Given the description of an element on the screen output the (x, y) to click on. 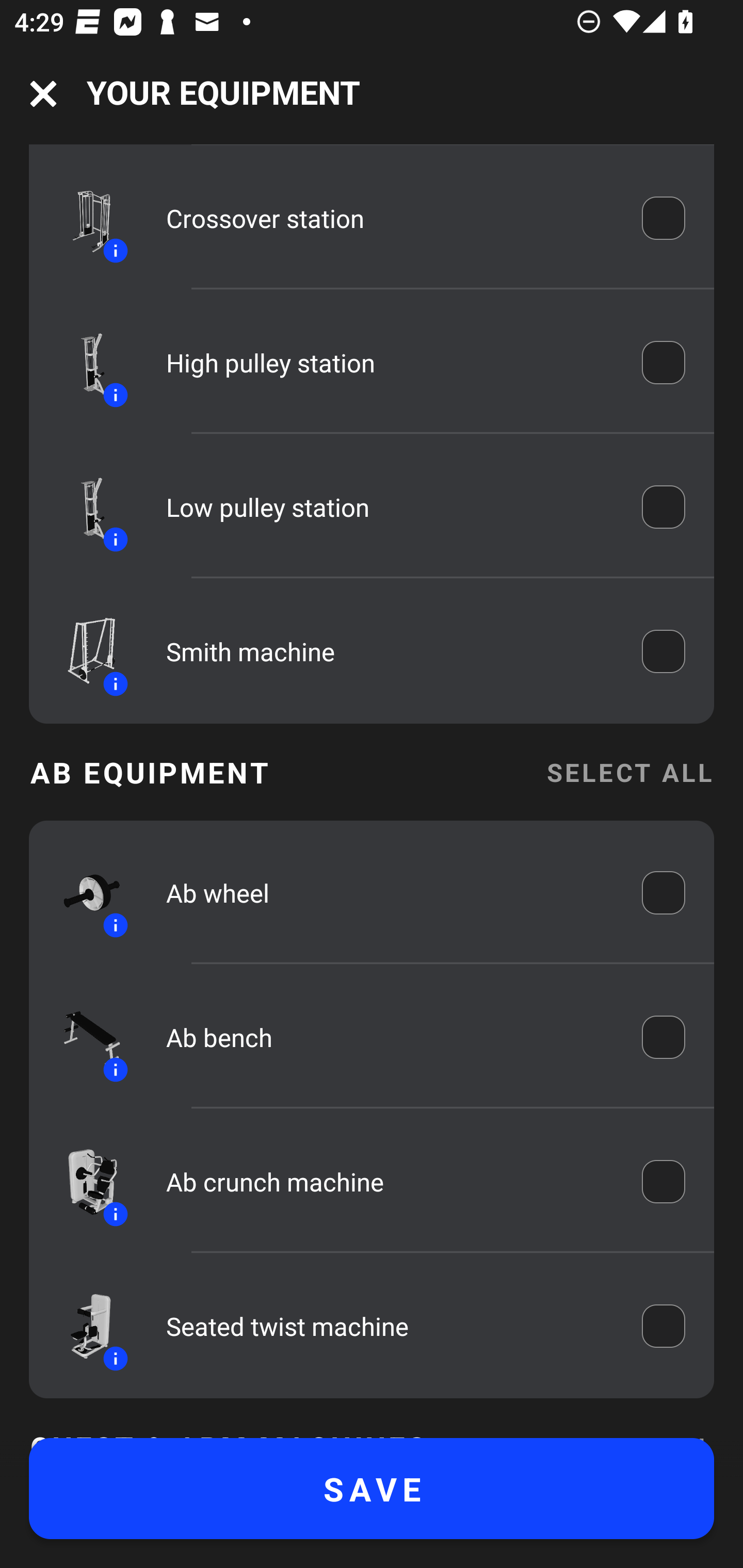
Navigation icon (43, 93)
Equipment icon Information icon (82, 218)
Crossover station (389, 218)
Equipment icon Information icon (82, 362)
High pulley station (389, 362)
Equipment icon Information icon (82, 507)
Low pulley station (389, 507)
Equipment icon Information icon (82, 651)
Smith machine (389, 651)
SELECT ALL (629, 772)
Equipment icon Information icon (82, 892)
Ab wheel (389, 892)
Equipment icon Information icon (82, 1037)
Ab bench (389, 1037)
Equipment icon Information icon (82, 1181)
Ab crunch machine (389, 1181)
Equipment icon Information icon (82, 1325)
Seated twist machine (389, 1325)
SAVE (371, 1488)
